Given the description of an element on the screen output the (x, y) to click on. 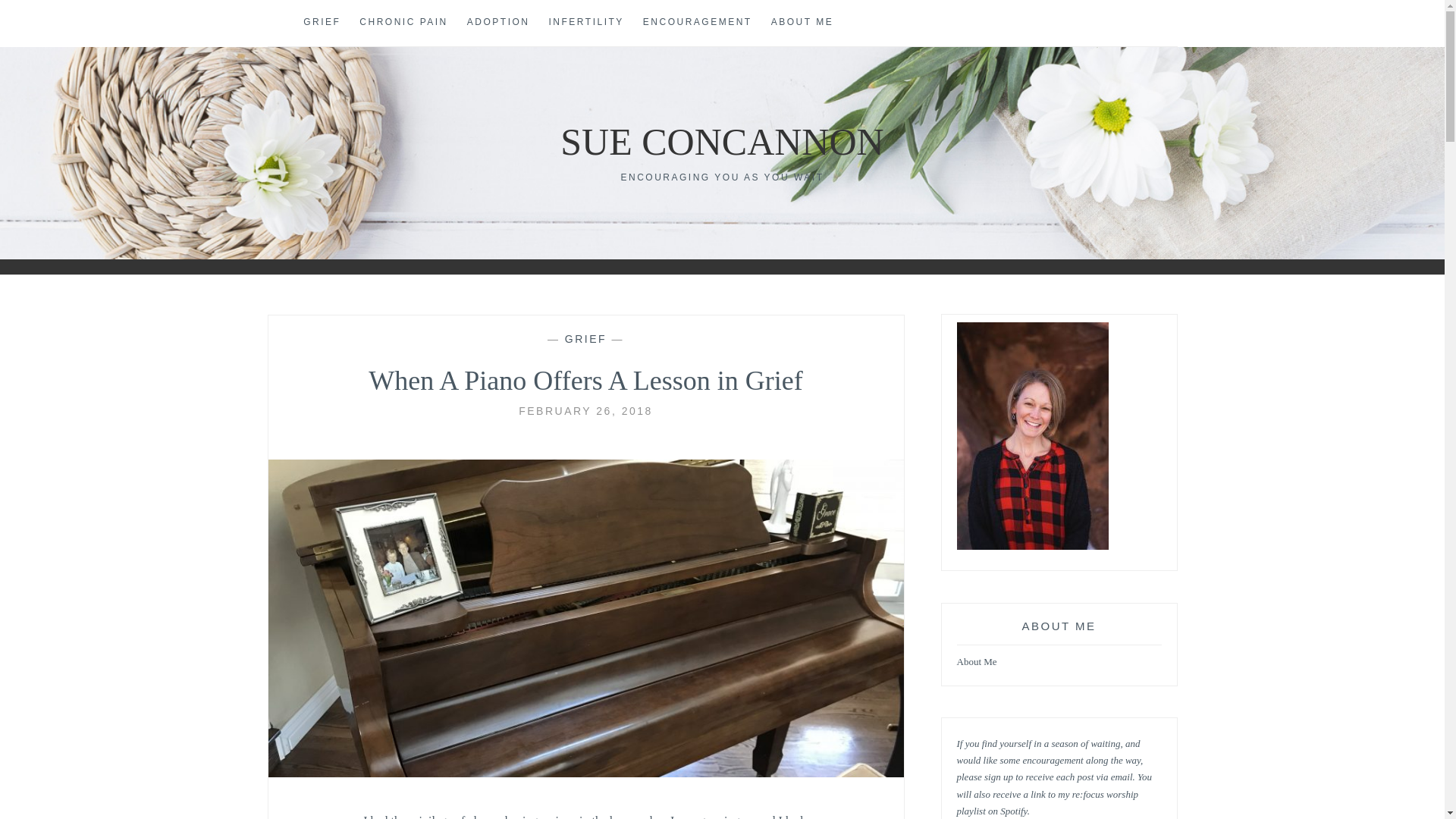
GRIEF (321, 22)
ENCOURAGEMENT (697, 22)
About Me (976, 662)
CHRONIC PAIN (402, 22)
GRIEF (585, 338)
ABOUT ME (801, 22)
ADOPTION (498, 22)
INFERTILITY (586, 22)
SUE CONCANNON (721, 141)
